Given the description of an element on the screen output the (x, y) to click on. 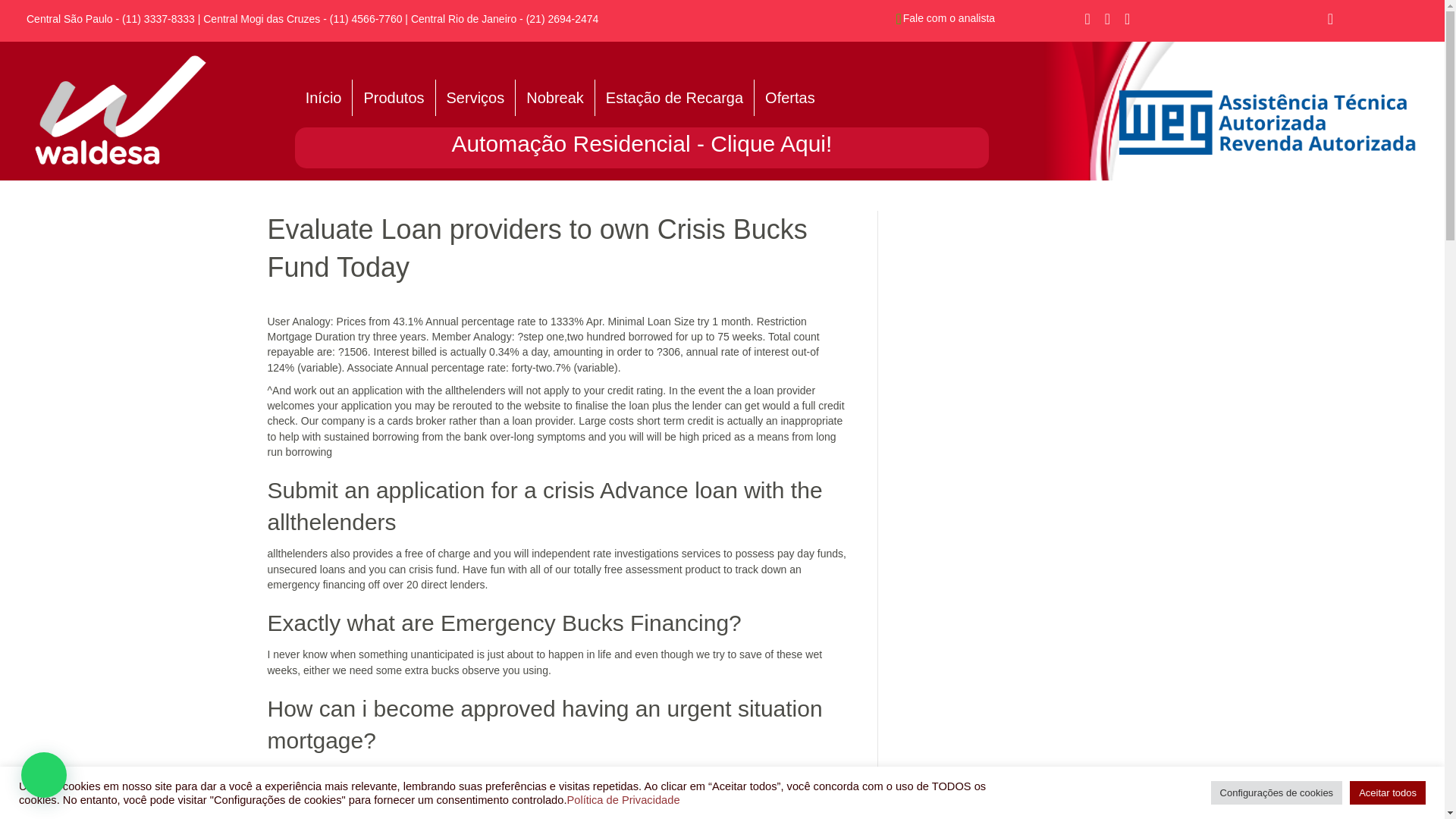
Nobreak (554, 97)
Ofertas (789, 97)
Fale com o analista (948, 17)
Produtos (392, 97)
1 (120, 110)
